Given the description of an element on the screen output the (x, y) to click on. 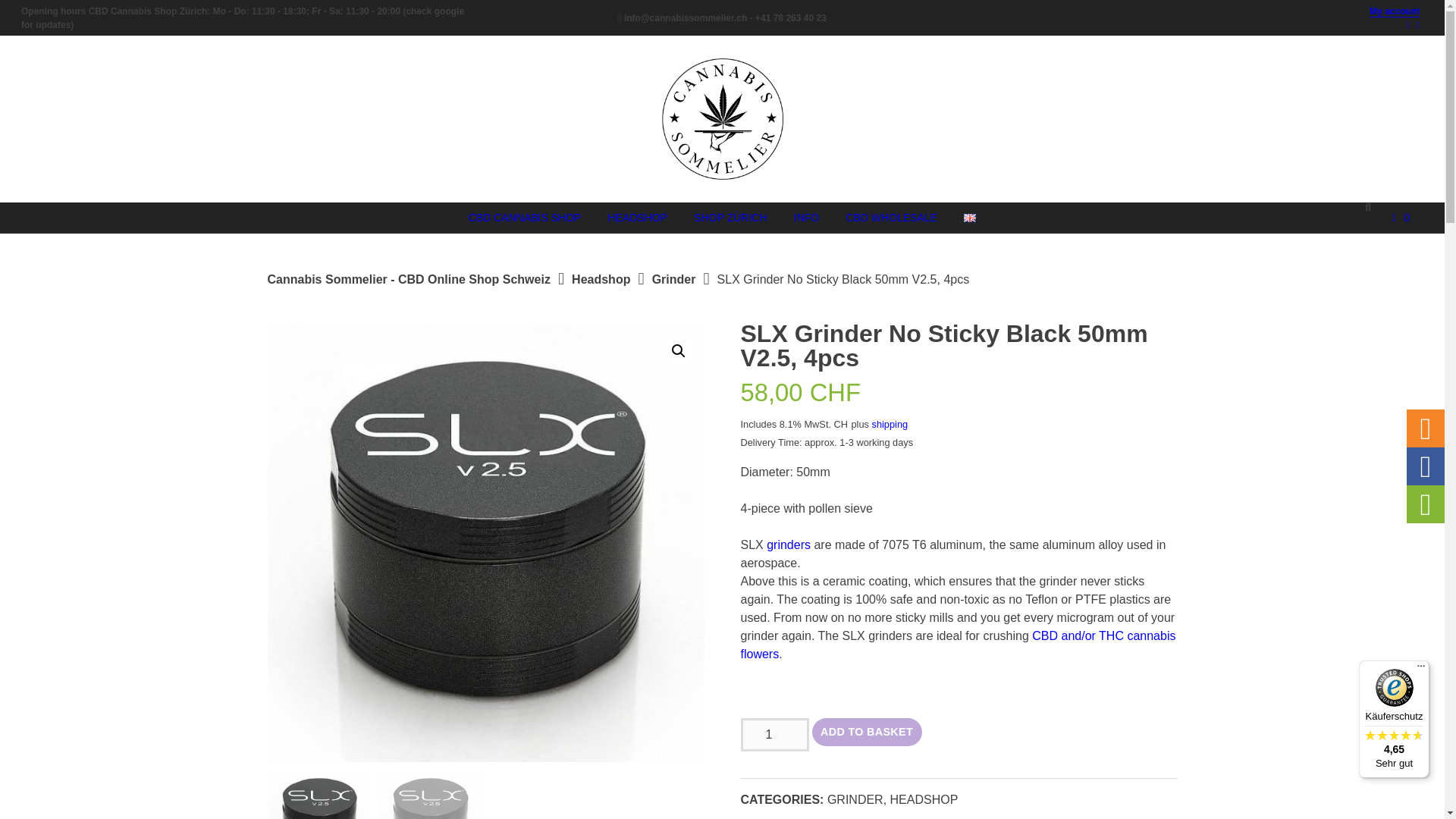
My account (1394, 10)
1 (773, 734)
HEADSHOP (638, 217)
CBD CANNABIS SHOP (524, 217)
